Given the description of an element on the screen output the (x, y) to click on. 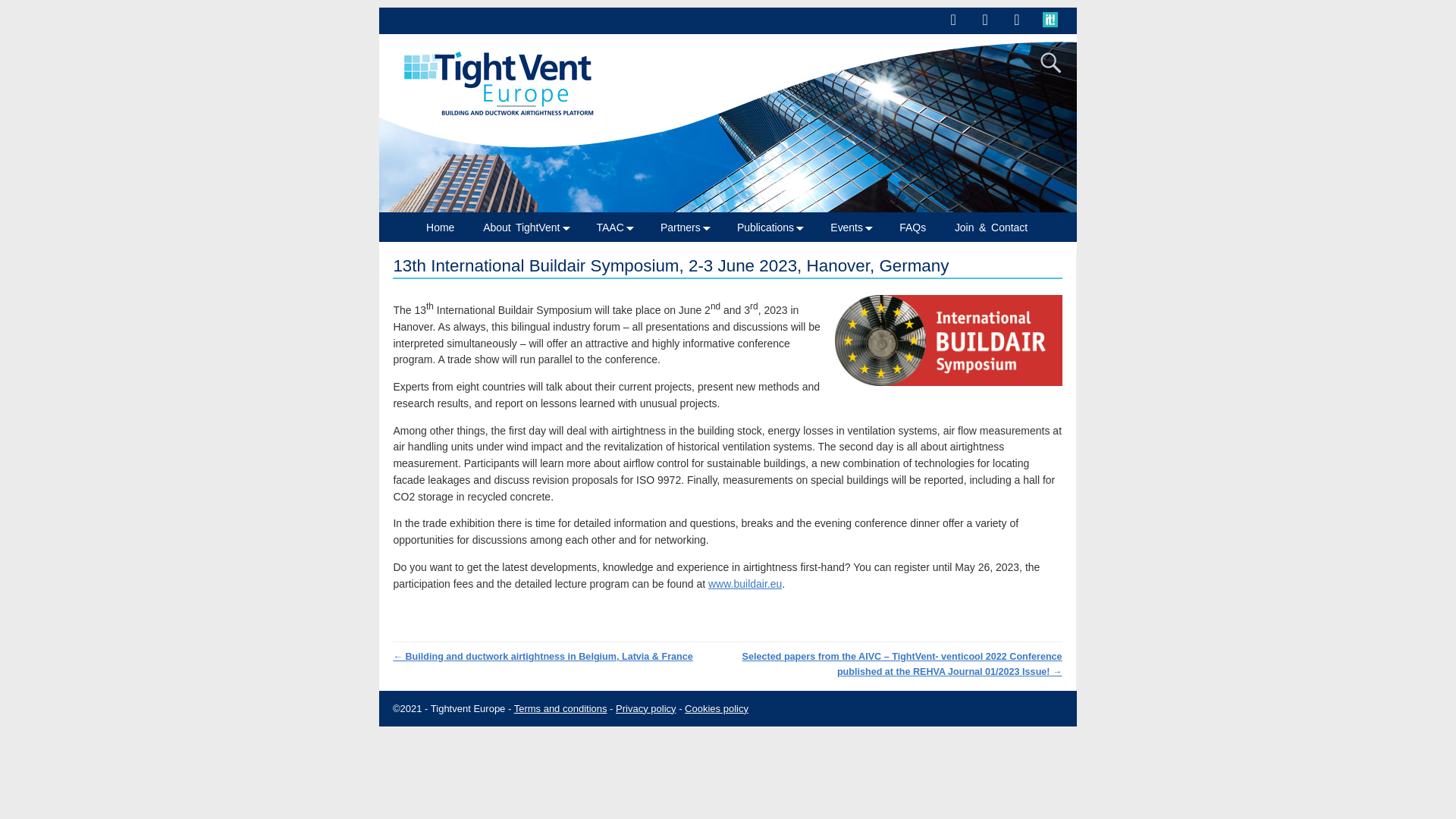
Home (447, 227)
Terms and conditions (560, 708)
FAQs (919, 227)
Publications (775, 227)
Partners (690, 227)
Cookies policy (716, 708)
Go to INIVE sccop.it page (1053, 24)
X (952, 19)
Home (447, 227)
www.buildair.eu (744, 583)
